Given the description of an element on the screen output the (x, y) to click on. 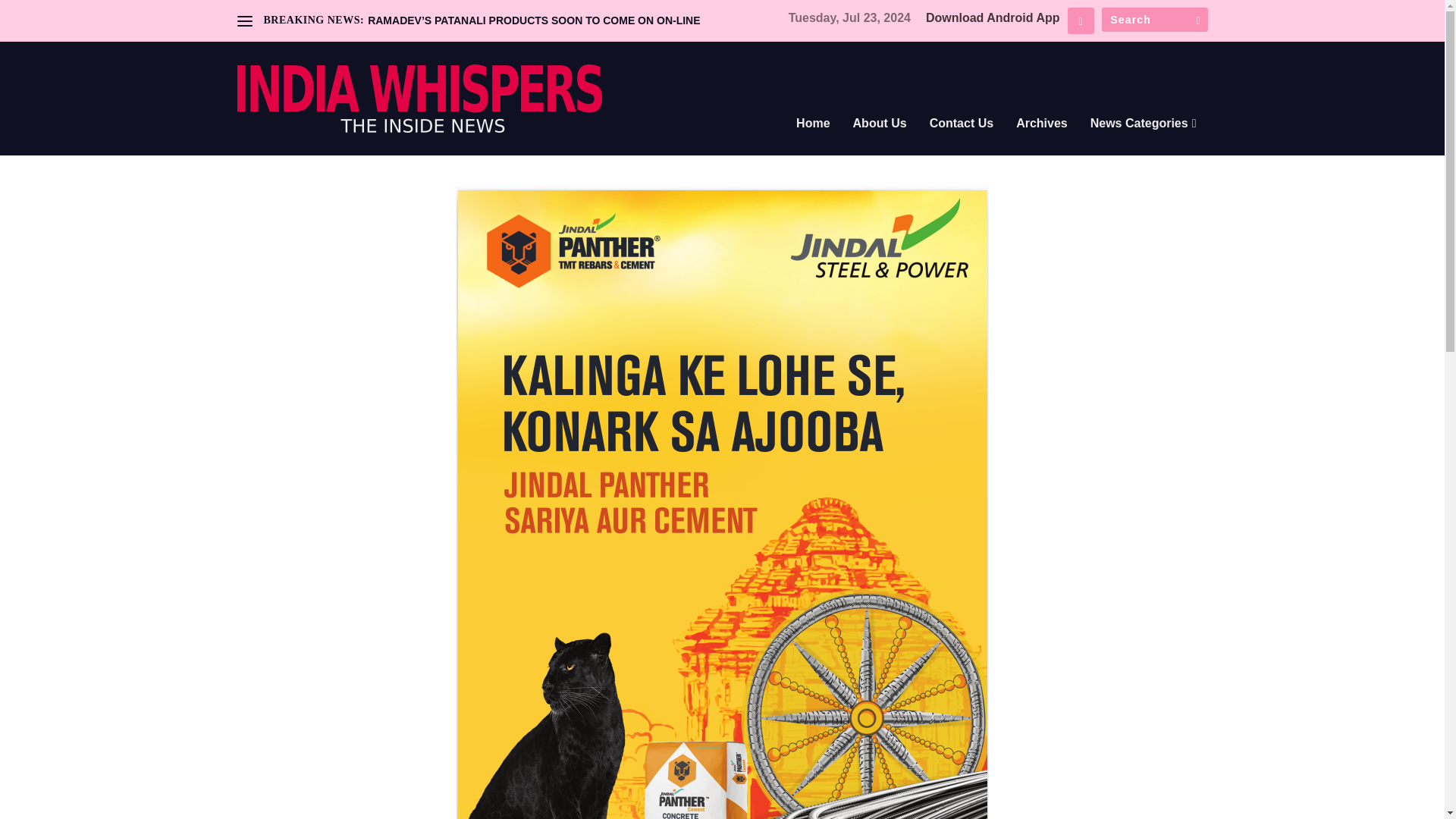
Archives (1041, 143)
Contact Us (961, 143)
About Us (880, 143)
Search for: (1153, 19)
Home (812, 143)
News Categories (1143, 143)
Download Android App (992, 17)
